Given the description of an element on the screen output the (x, y) to click on. 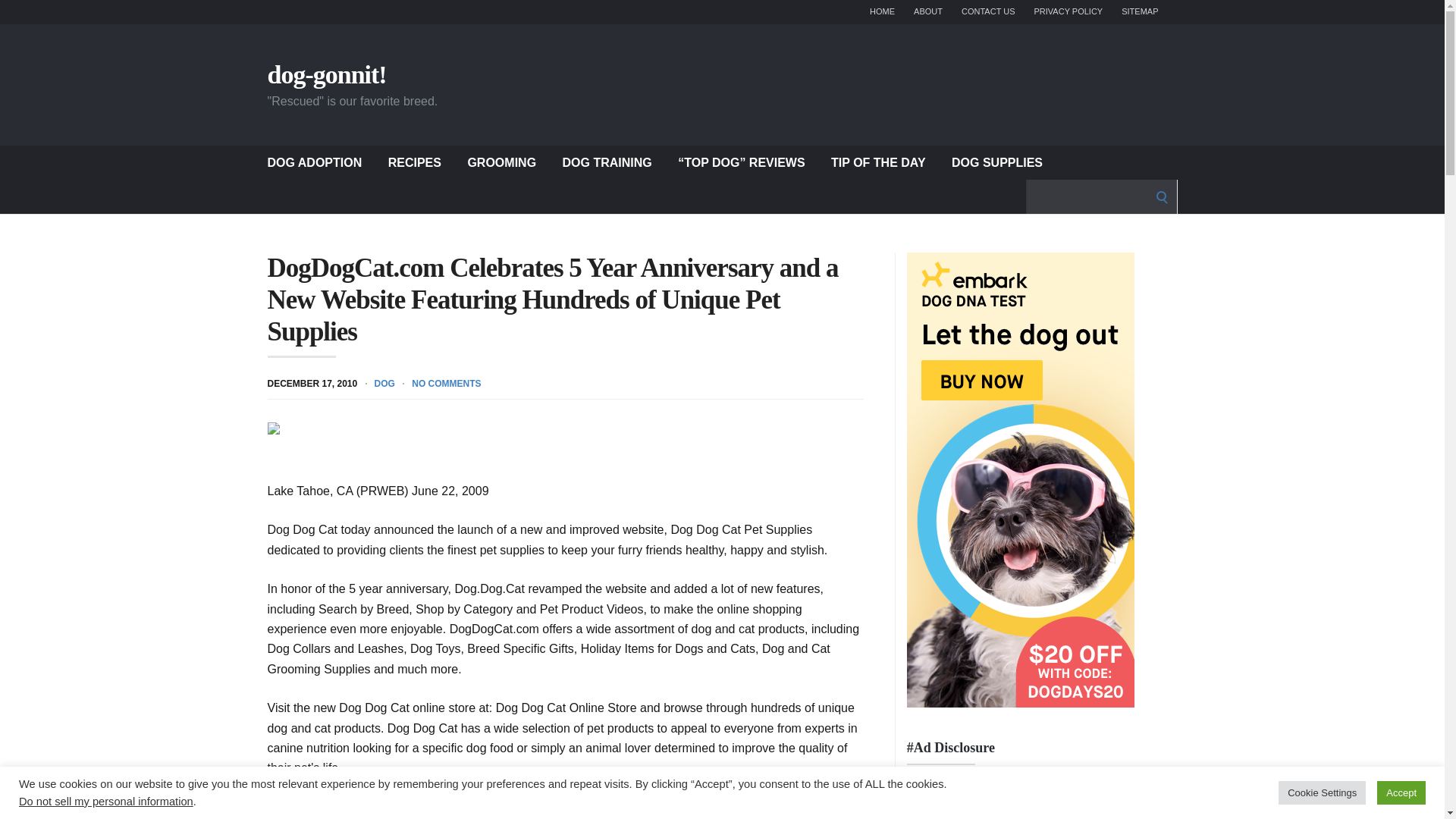
Search (16, 17)
dog-gonnit! (325, 74)
DOG ADOPTION (313, 162)
NO COMMENTS (446, 382)
DOG (384, 382)
RECIPES (414, 162)
PRIVACY POLICY (1068, 11)
SITEMAP (1139, 11)
DOG TRAINING (607, 162)
HOME (882, 11)
DOG SUPPLIES (997, 162)
CONTACT US (987, 11)
GROOMING (501, 162)
ABOUT (928, 11)
TIP OF THE DAY (877, 162)
